Given the description of an element on the screen output the (x, y) to click on. 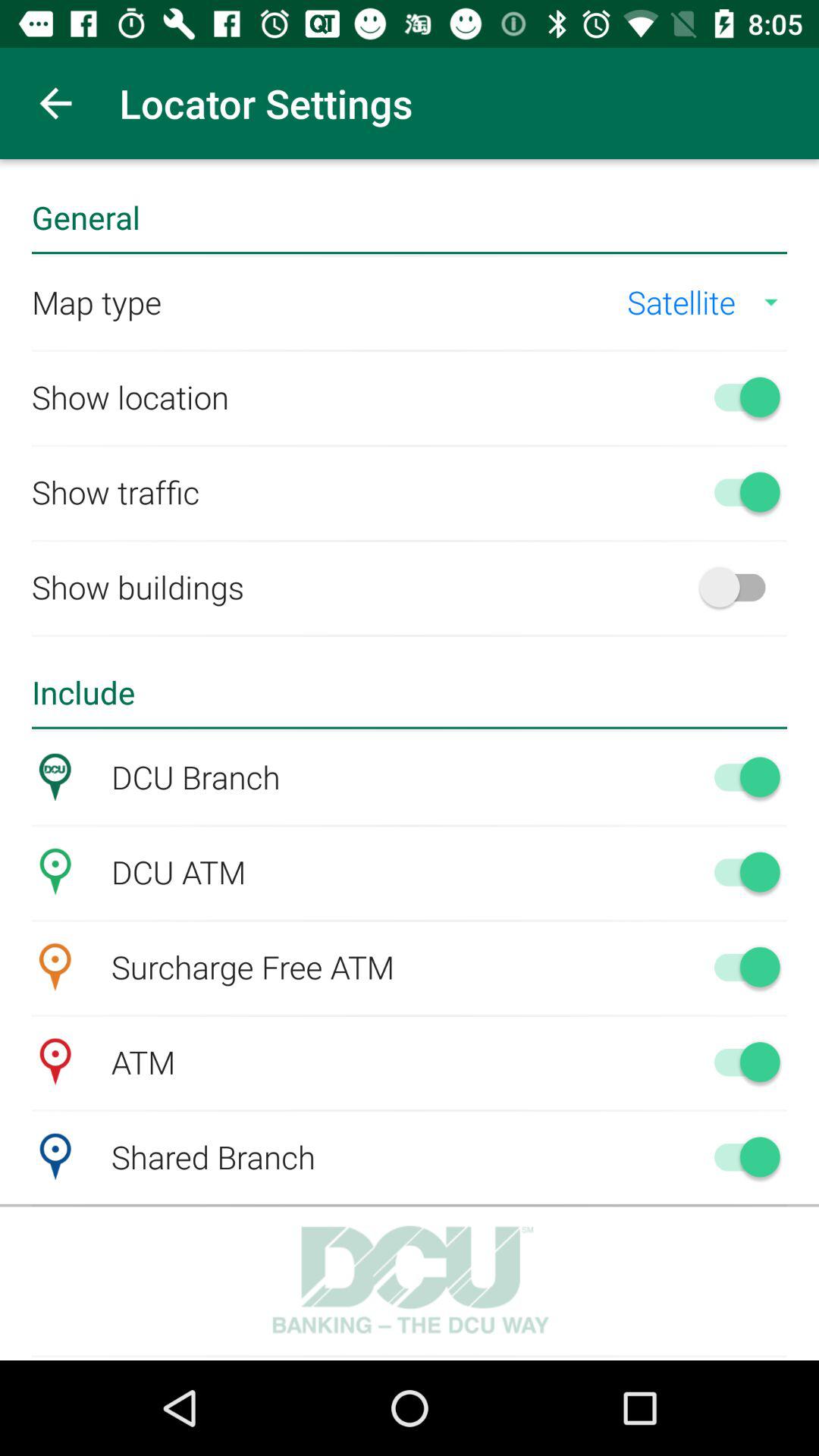
enabling or disabling show traffic button (739, 491)
